Given the description of an element on the screen output the (x, y) to click on. 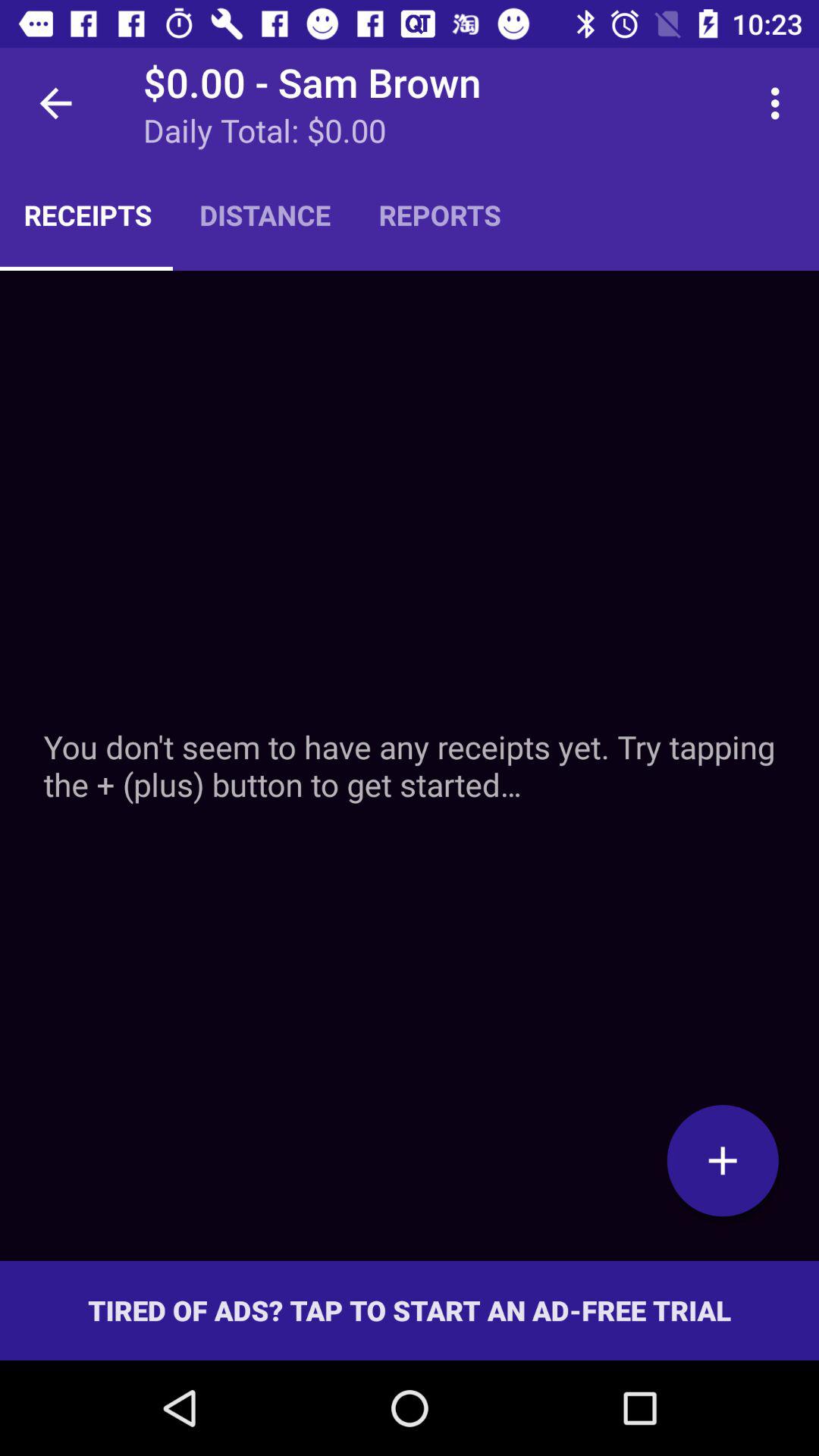
select the item below the daily total 0 item (264, 214)
